Given the description of an element on the screen output the (x, y) to click on. 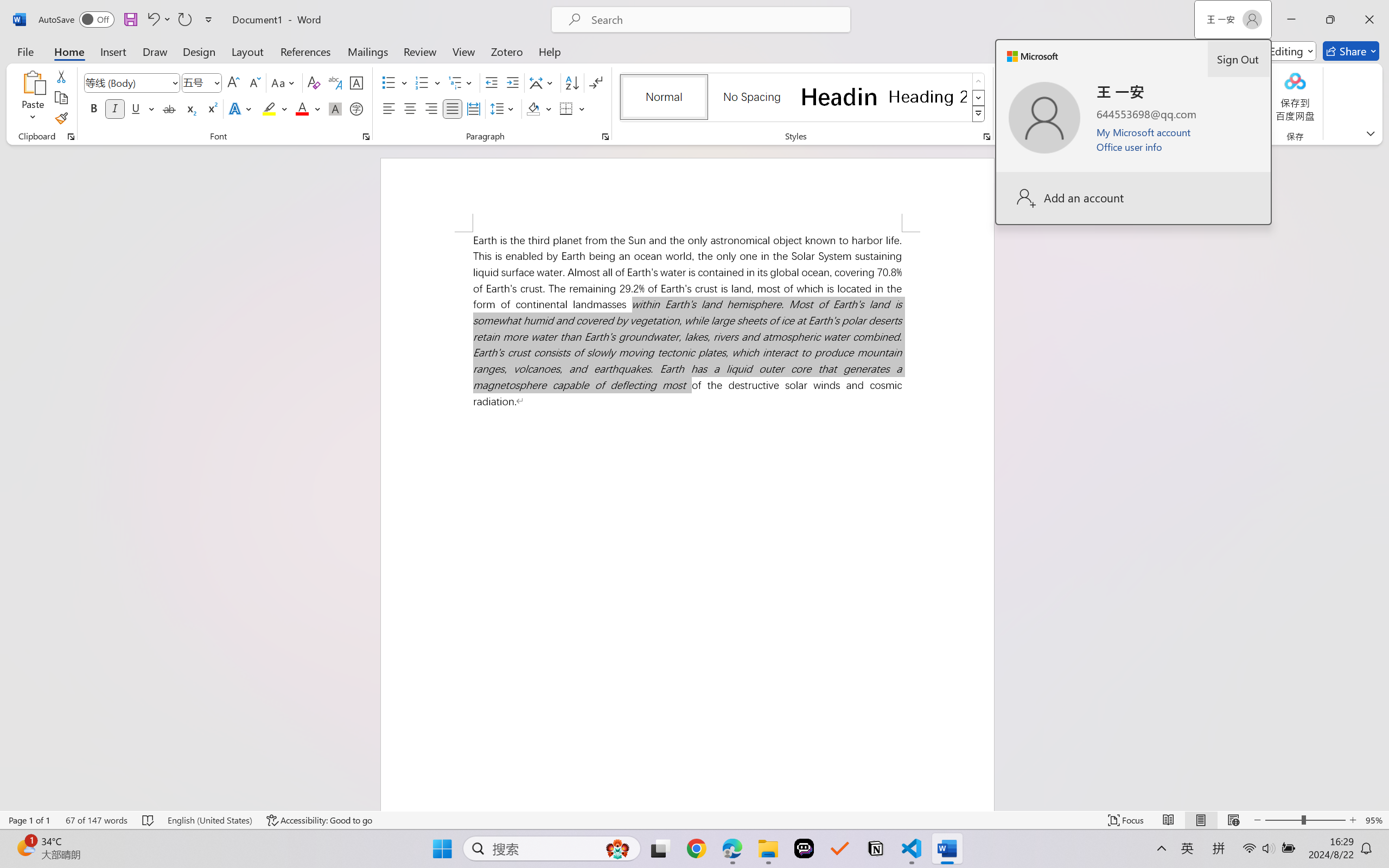
Class: NetUIScrollBar (1382, 477)
Shading RGB(0, 0, 0) (533, 108)
Shrink Font (253, 82)
Show/Hide Editing Marks (595, 82)
Notion (875, 848)
Justify (452, 108)
Undo Italic (152, 19)
Decrease Indent (491, 82)
